Given the description of an element on the screen output the (x, y) to click on. 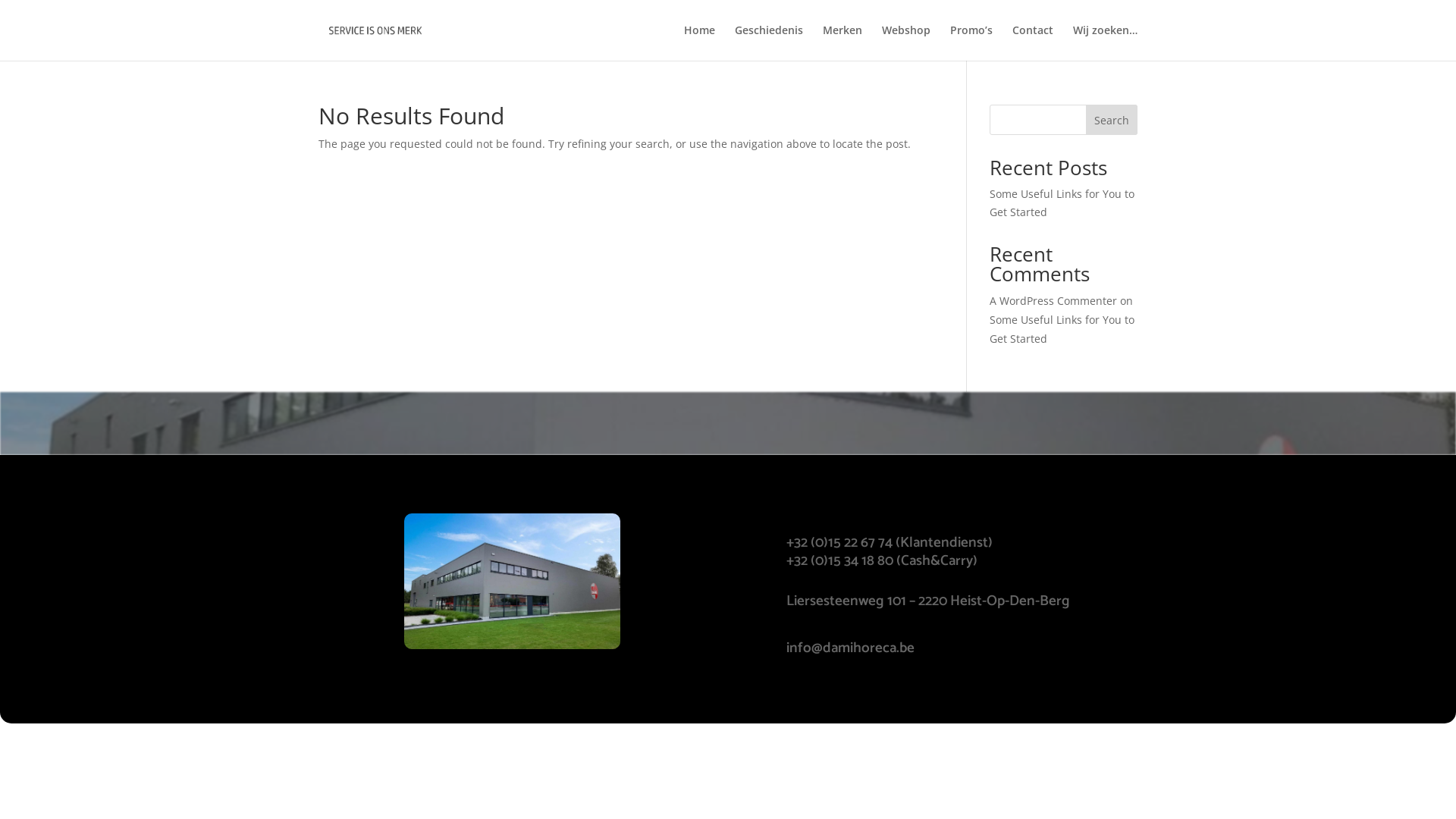
Webshop Element type: text (905, 42)
Geschiedenis Element type: text (768, 42)
Some Useful Links for You to Get Started Element type: text (1061, 328)
A WordPress Commenter Element type: text (1053, 300)
Home Element type: text (699, 42)
Some Useful Links for You to Get Started Element type: text (1061, 202)
building Element type: hover (512, 581)
Merken Element type: text (842, 42)
Search Element type: text (1111, 119)
Contact Element type: text (1032, 42)
